Given the description of an element on the screen output the (x, y) to click on. 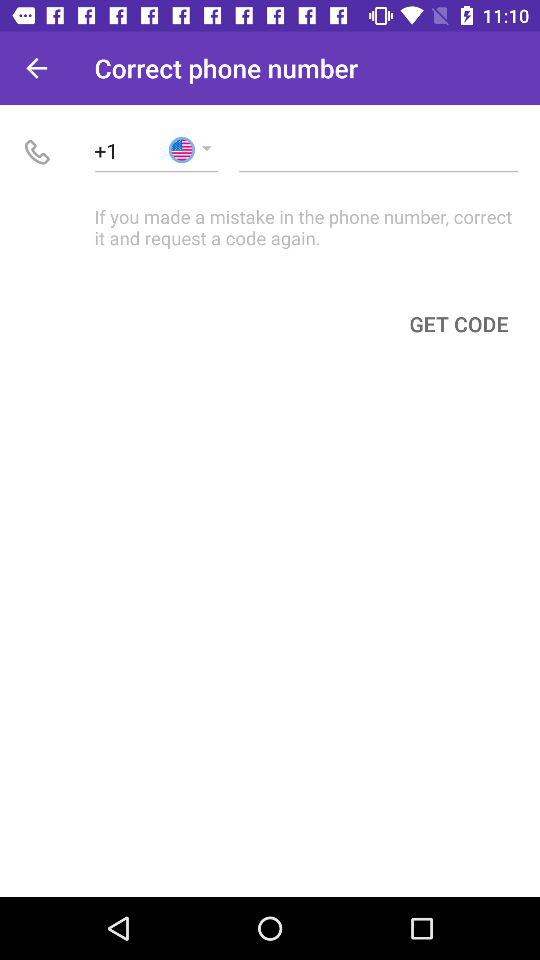
select item to the left of the correct phone number item (36, 68)
